Given the description of an element on the screen output the (x, y) to click on. 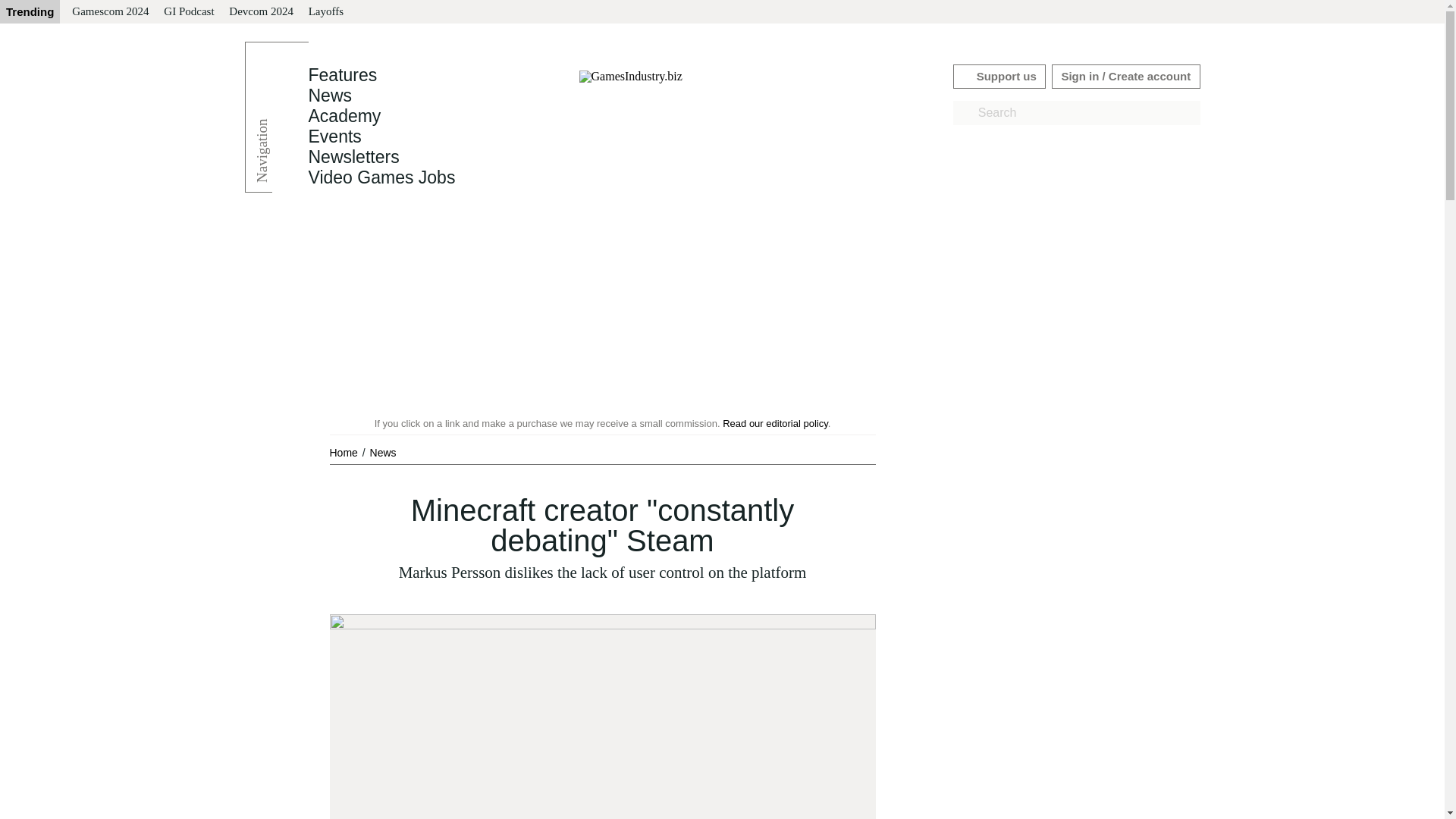
Newsletters (352, 157)
Video Games Jobs (380, 177)
GI Podcast (188, 11)
Layoffs (325, 11)
Video Games Jobs (380, 177)
Gamescom 2024 (109, 11)
Read our editorial policy (775, 423)
Academy (343, 116)
Home (344, 452)
News (382, 452)
